Given the description of an element on the screen output the (x, y) to click on. 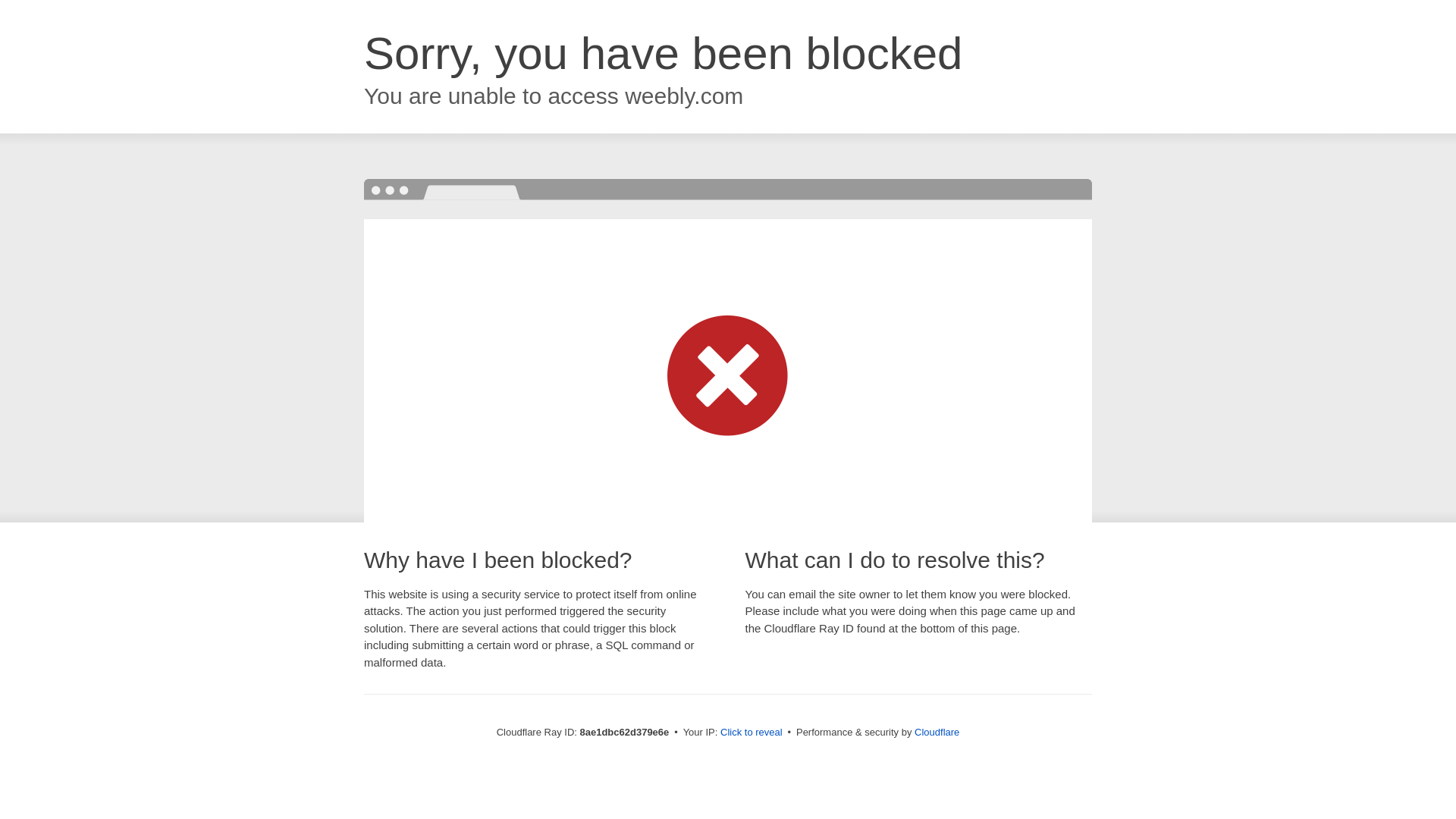
Click to reveal (751, 732)
Cloudflare (936, 731)
